Given the description of an element on the screen output the (x, y) to click on. 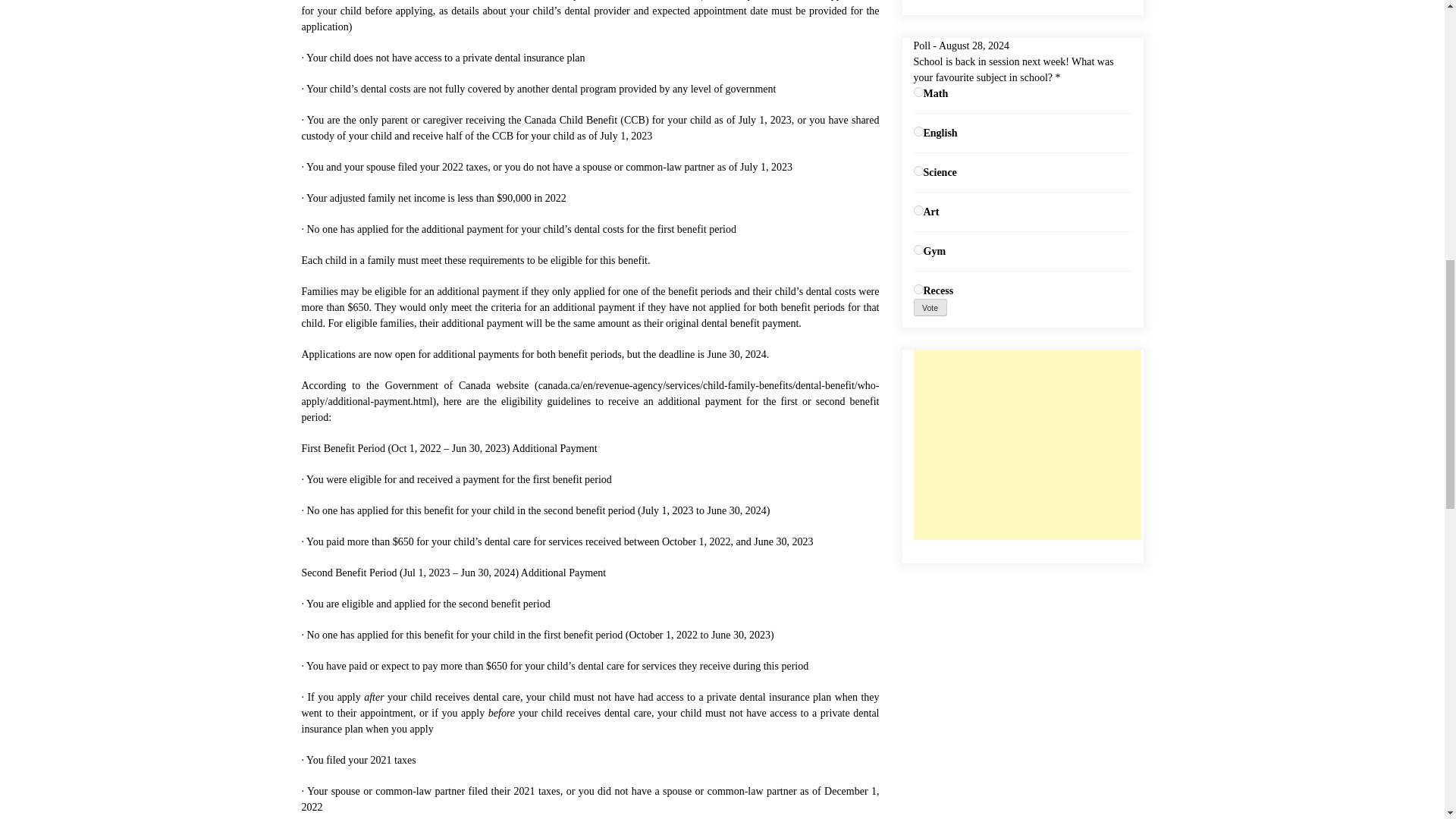
Math (917, 91)
Art (917, 210)
Recess (917, 289)
Science (917, 171)
Gym (917, 249)
English (917, 131)
